Given the description of an element on the screen output the (x, y) to click on. 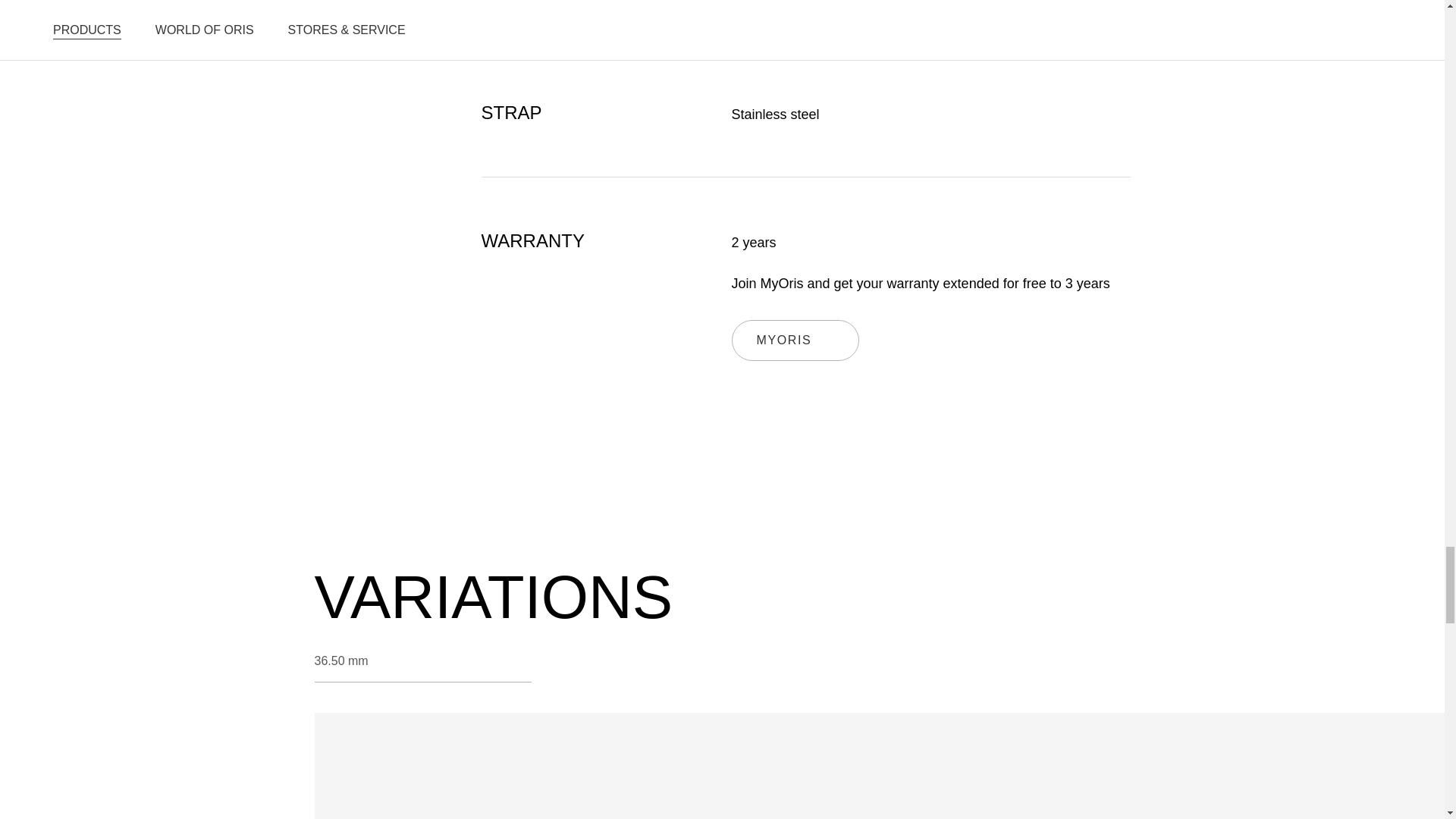
MYORIS (1102, 765)
36.50 mm (786, 765)
